Given the description of an element on the screen output the (x, y) to click on. 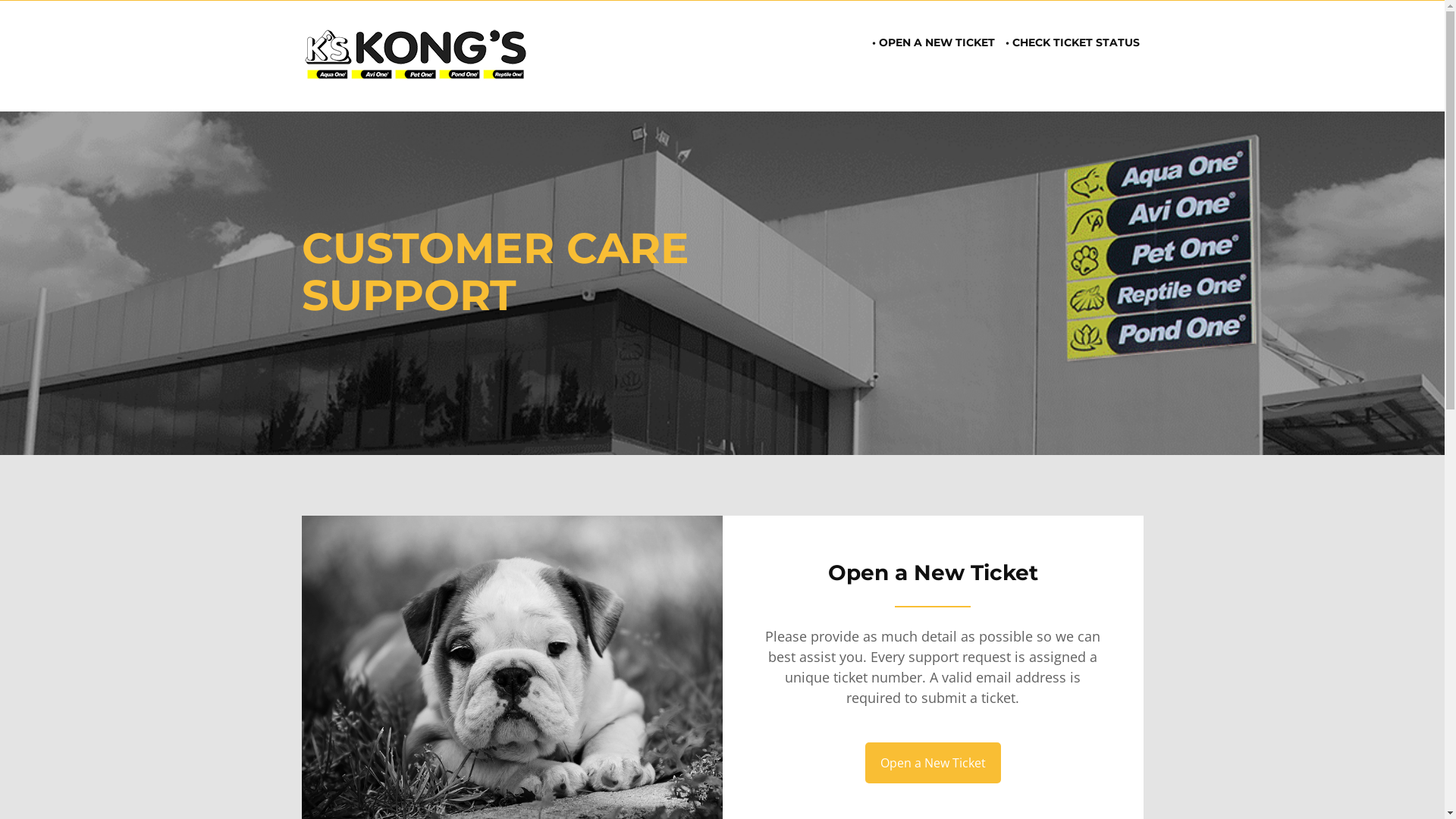
Open a New Ticket Element type: text (932, 762)
Support Center Element type: hover (415, 55)
